Given the description of an element on the screen output the (x, y) to click on. 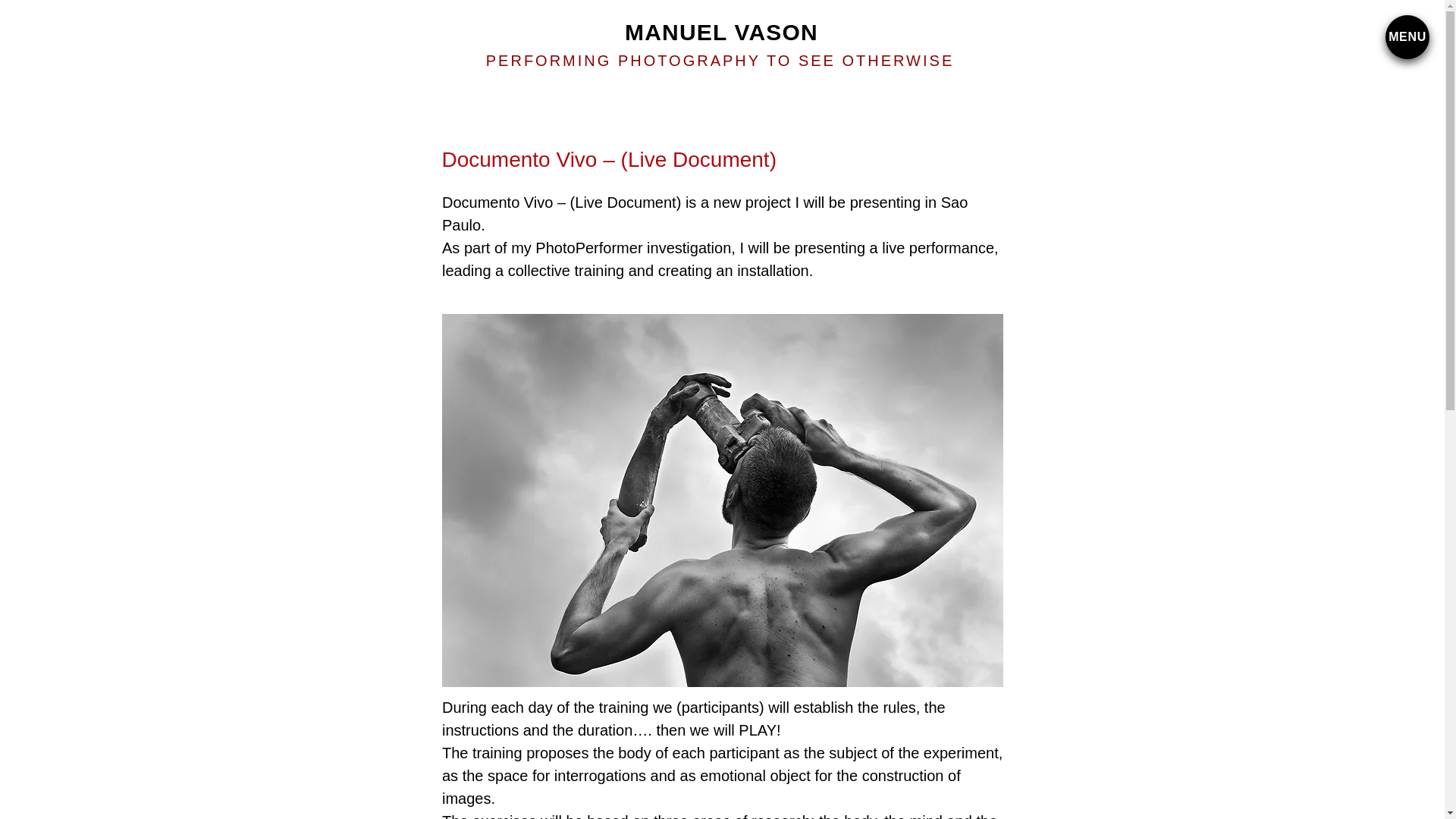
MANUEL VASON (721, 32)
MENU (1407, 36)
PERFORMING PHOTOGRAPHY TO SEE OTHERWISE (719, 60)
